Given the description of an element on the screen output the (x, y) to click on. 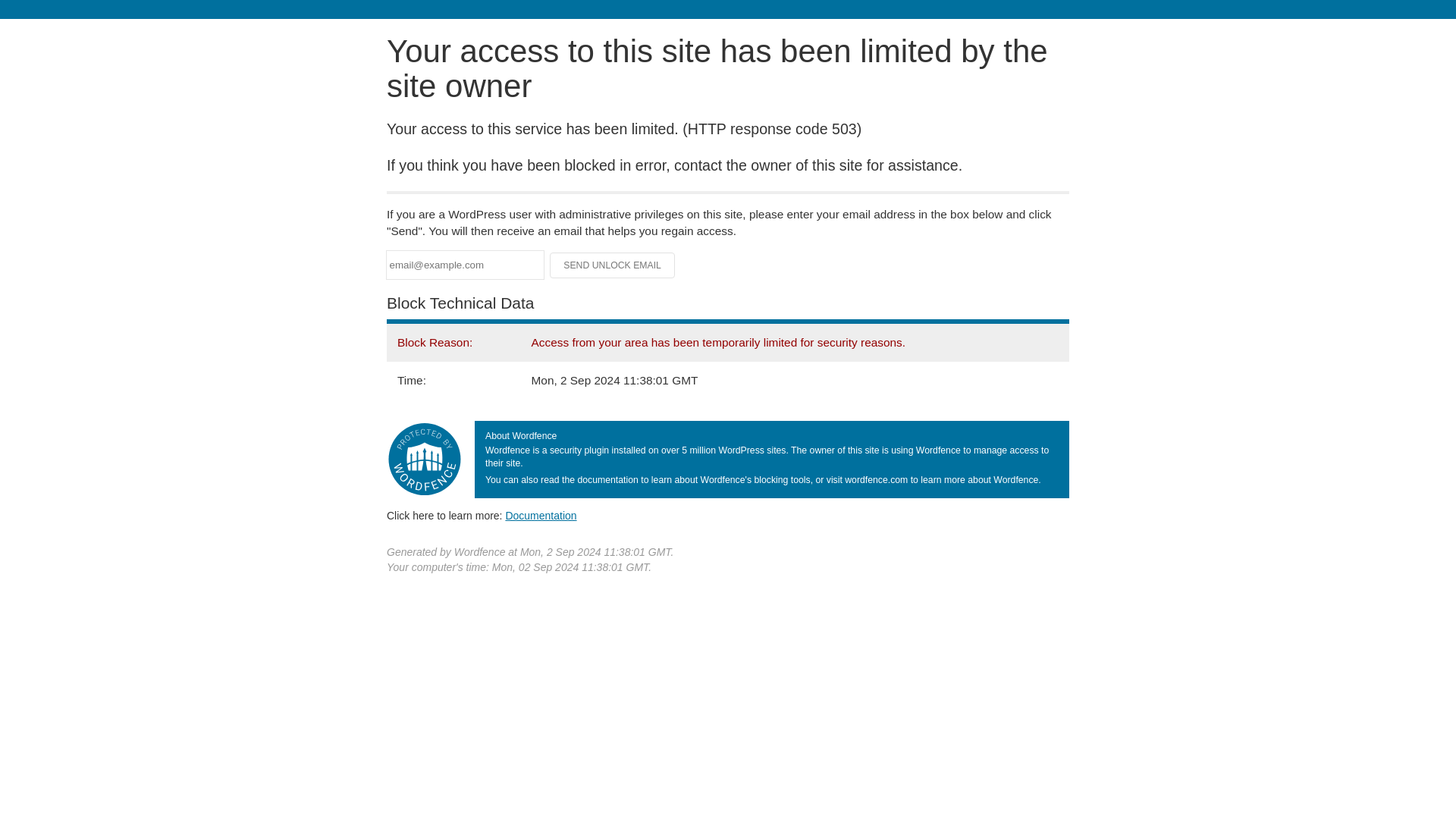
Documentation (540, 515)
Send Unlock Email (612, 265)
Send Unlock Email (612, 265)
